Given the description of an element on the screen output the (x, y) to click on. 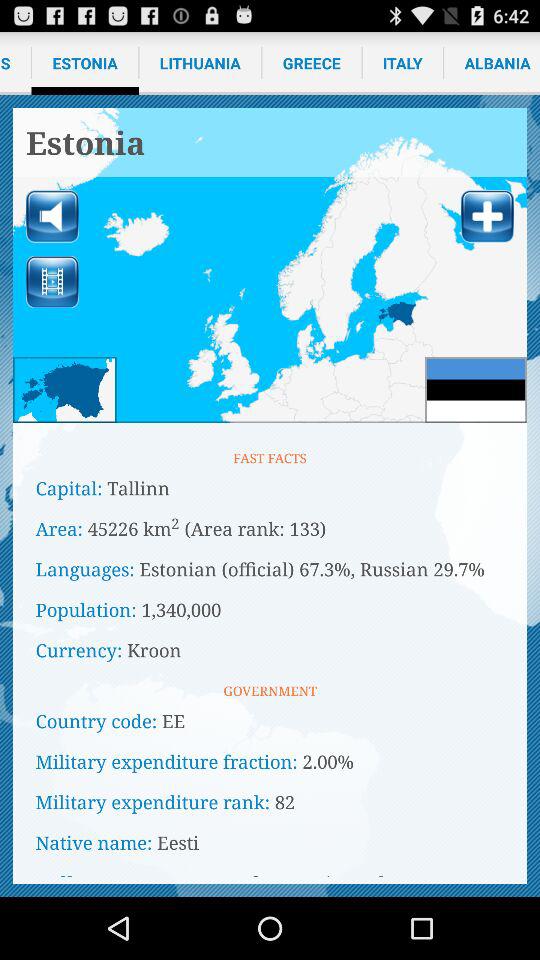
switch sound/mute option (52, 216)
